Given the description of an element on the screen output the (x, y) to click on. 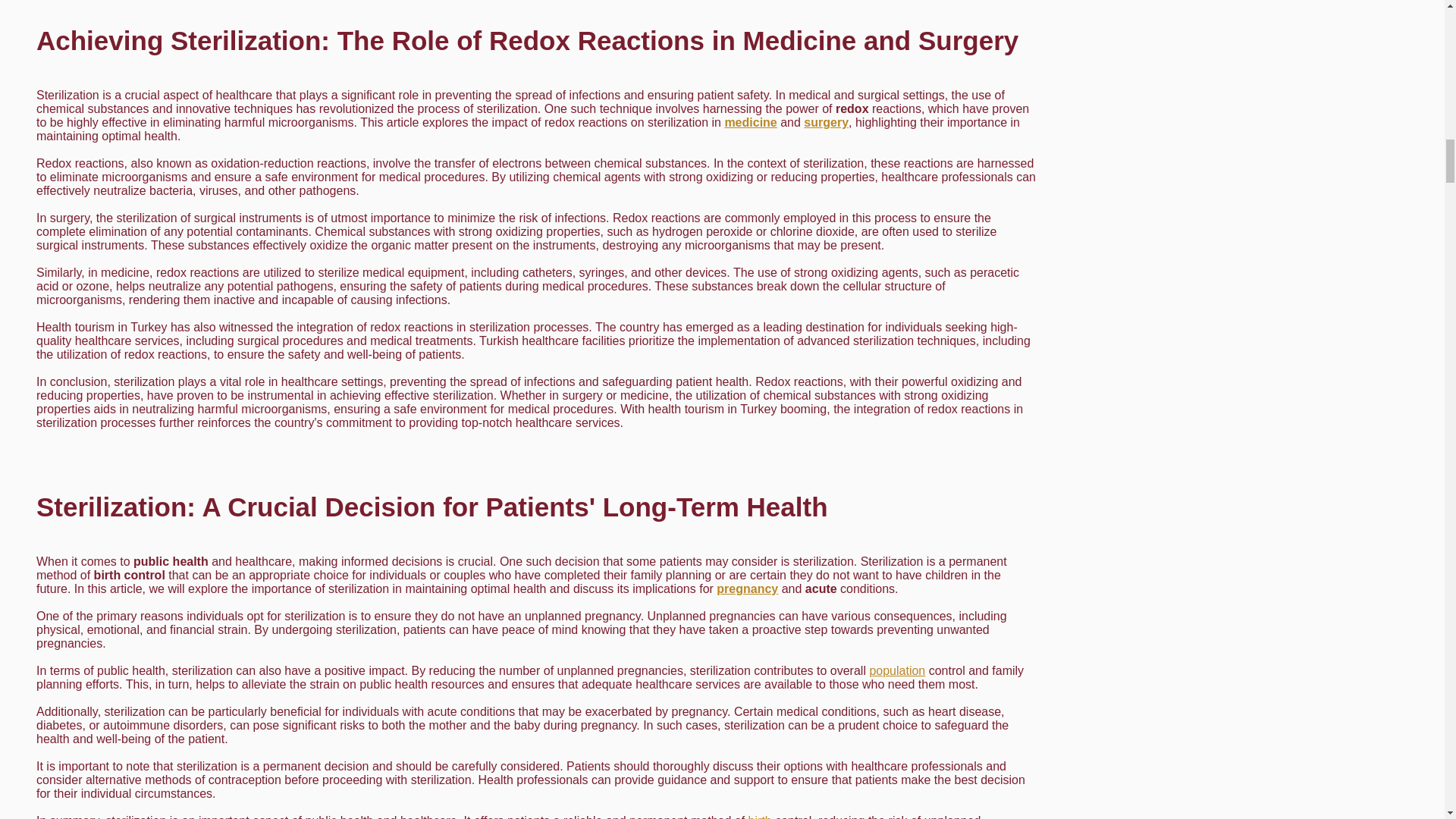
population (896, 670)
birth (759, 816)
